Given the description of an element on the screen output the (x, y) to click on. 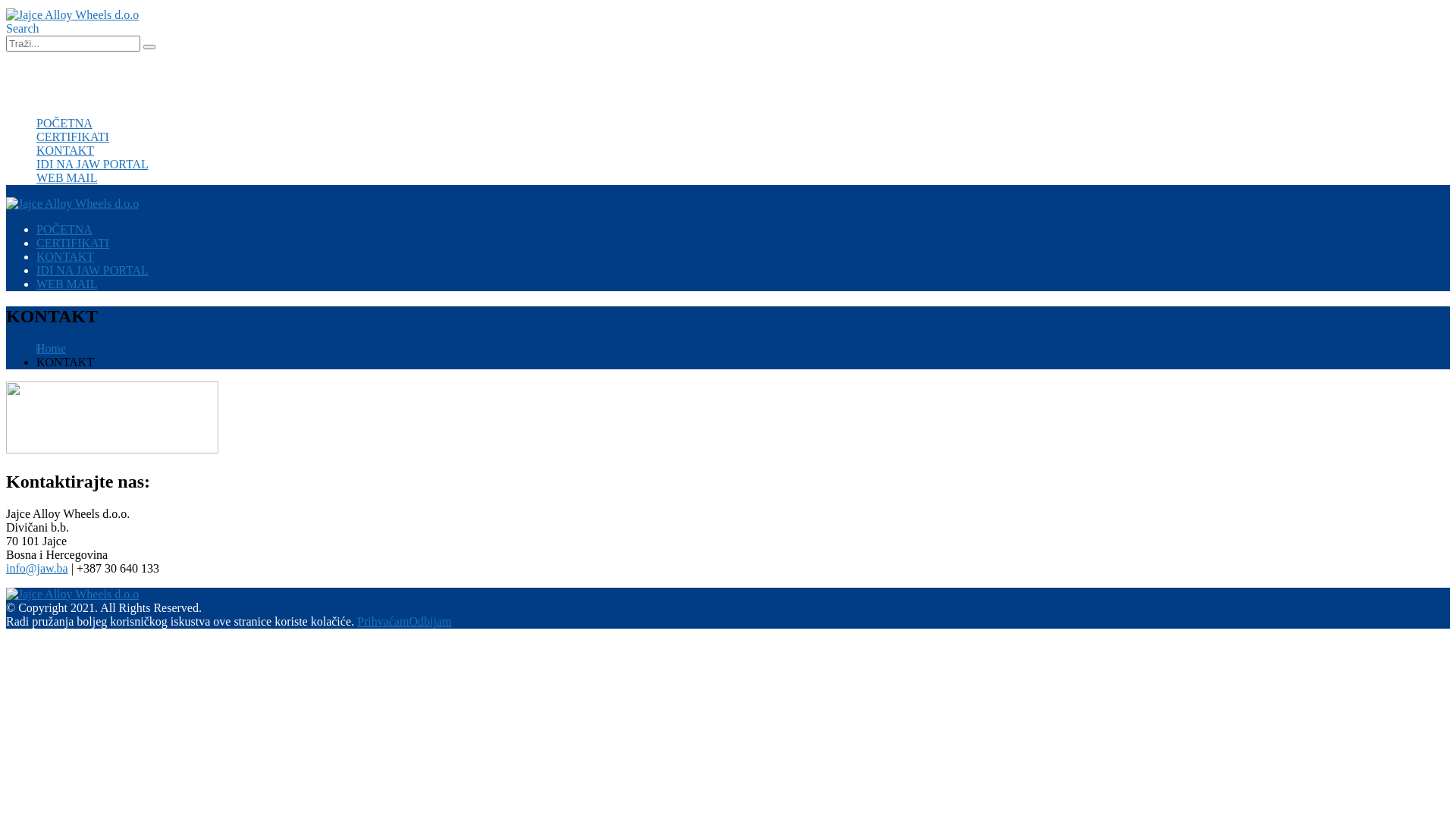
info@jaw.ba Element type: text (37, 567)
CERTIFIKATI Element type: text (72, 136)
KONTAKT Element type: text (65, 150)
Search Element type: text (22, 27)
CERTIFIKATI Element type: text (72, 242)
KONTAKT Element type: text (65, 256)
IDI NA JAW PORTAL Element type: text (92, 163)
Search Element type: hover (149, 46)
WEB MAIL Element type: text (66, 177)
Home Element type: text (50, 348)
IDI NA JAW PORTAL Element type: text (92, 269)
Web mail Element type: text (59, 69)
WEB MAIL Element type: text (66, 283)
Odbijam Element type: text (429, 621)
JAW Portal Element type: text (64, 83)
